Given the description of an element on the screen output the (x, y) to click on. 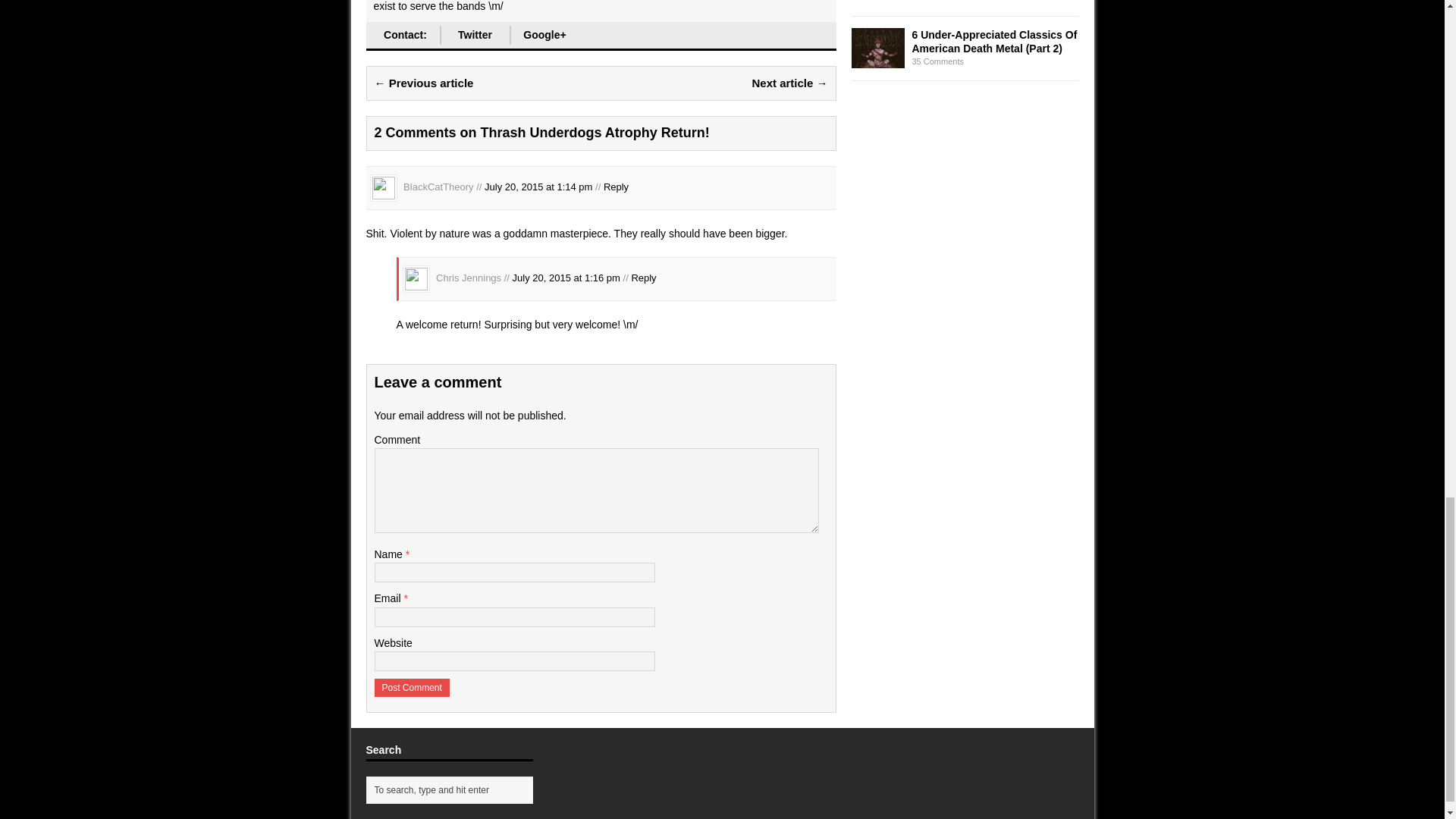
To search, type and hit enter (452, 790)
Twitter (474, 35)
Post Comment (411, 687)
